Given the description of an element on the screen output the (x, y) to click on. 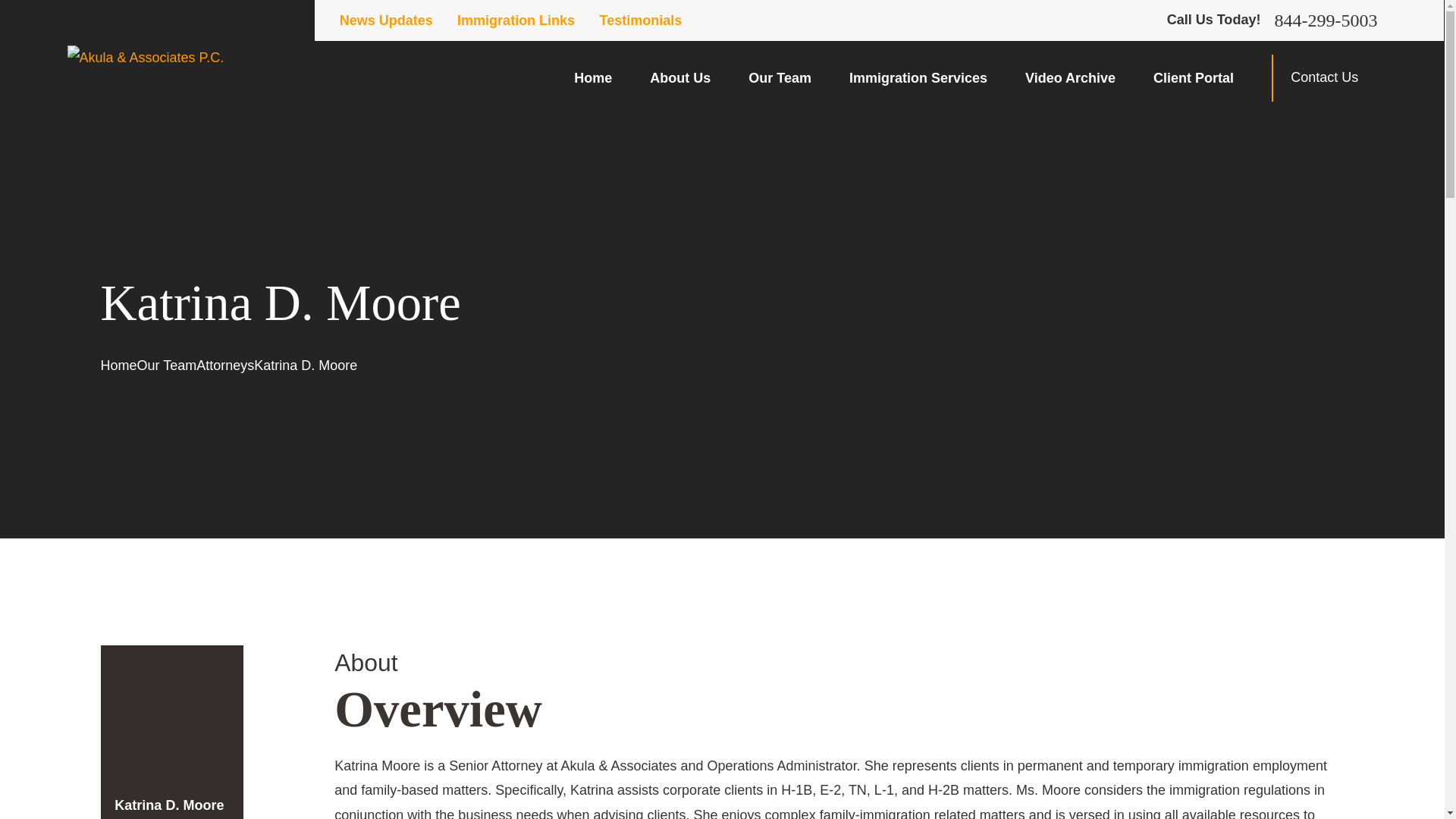
Immigration Services (917, 78)
About Us (679, 78)
Go Home (118, 365)
Immigration Links (516, 20)
844-299-5003 (1325, 20)
Our Team (779, 78)
News Updates (385, 20)
Testimonials (640, 20)
Home (145, 57)
Home (592, 78)
